Given the description of an element on the screen output the (x, y) to click on. 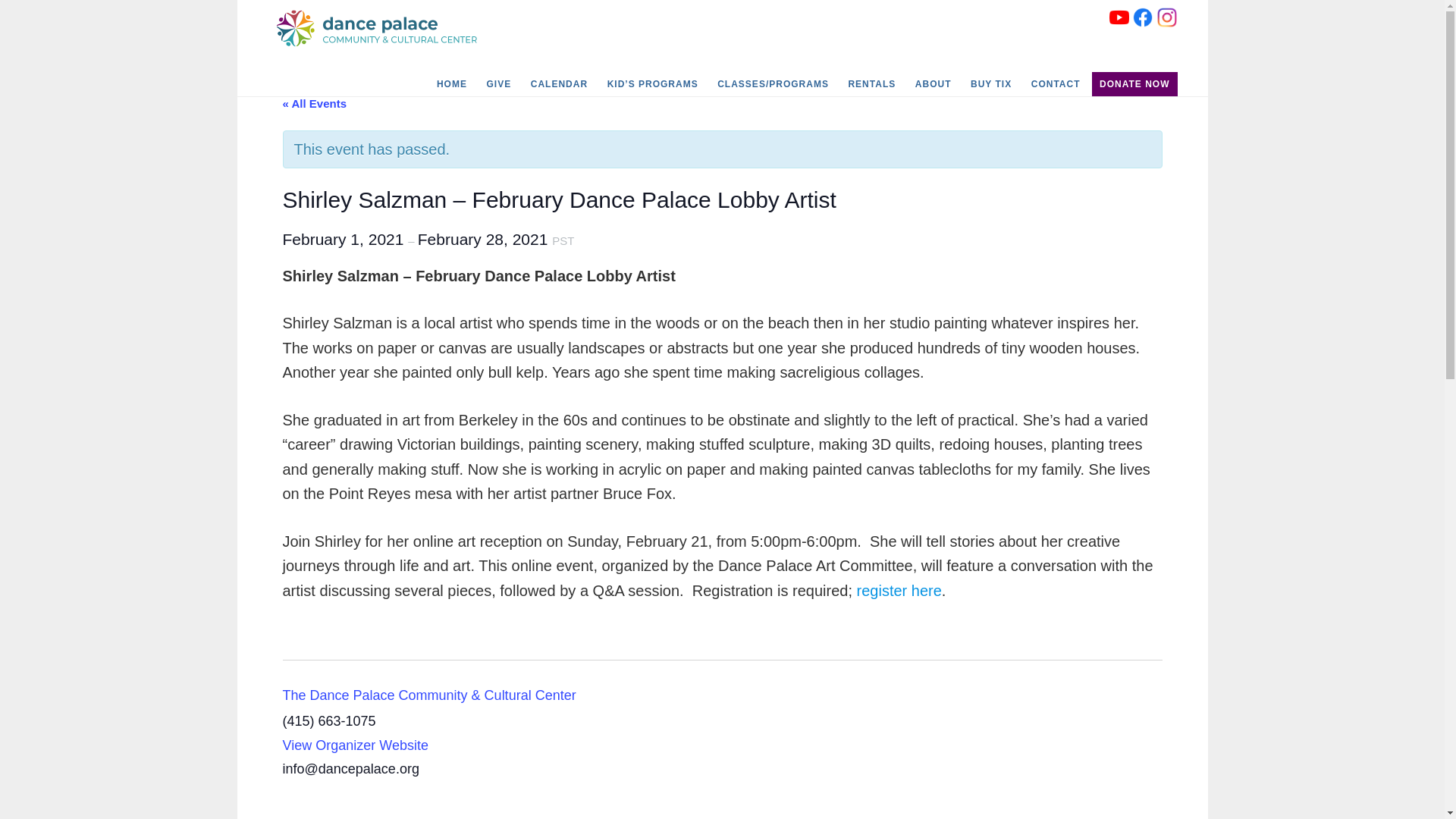
THE DANCE PALACE (380, 28)
CALENDAR (558, 84)
GIVE (498, 84)
HOME (451, 84)
